Given the description of an element on the screen output the (x, y) to click on. 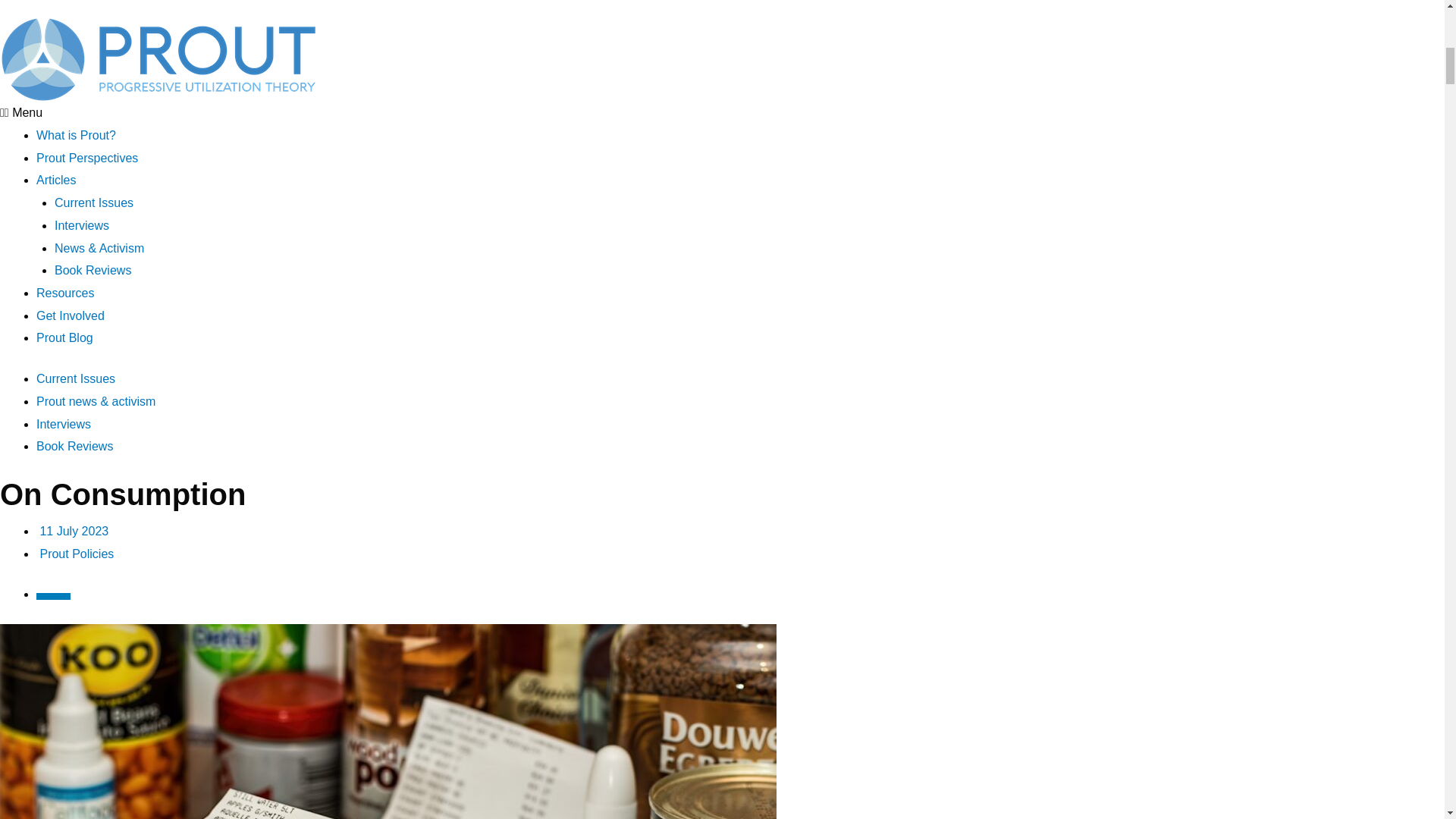
Prout Perspectives (87, 157)
Resources (65, 292)
Get Involved (70, 315)
What is Prout? (76, 134)
Interviews (82, 225)
Articles (55, 179)
Prout Blog (64, 337)
Book Reviews (93, 269)
Current Issues (94, 202)
